Given the description of an element on the screen output the (x, y) to click on. 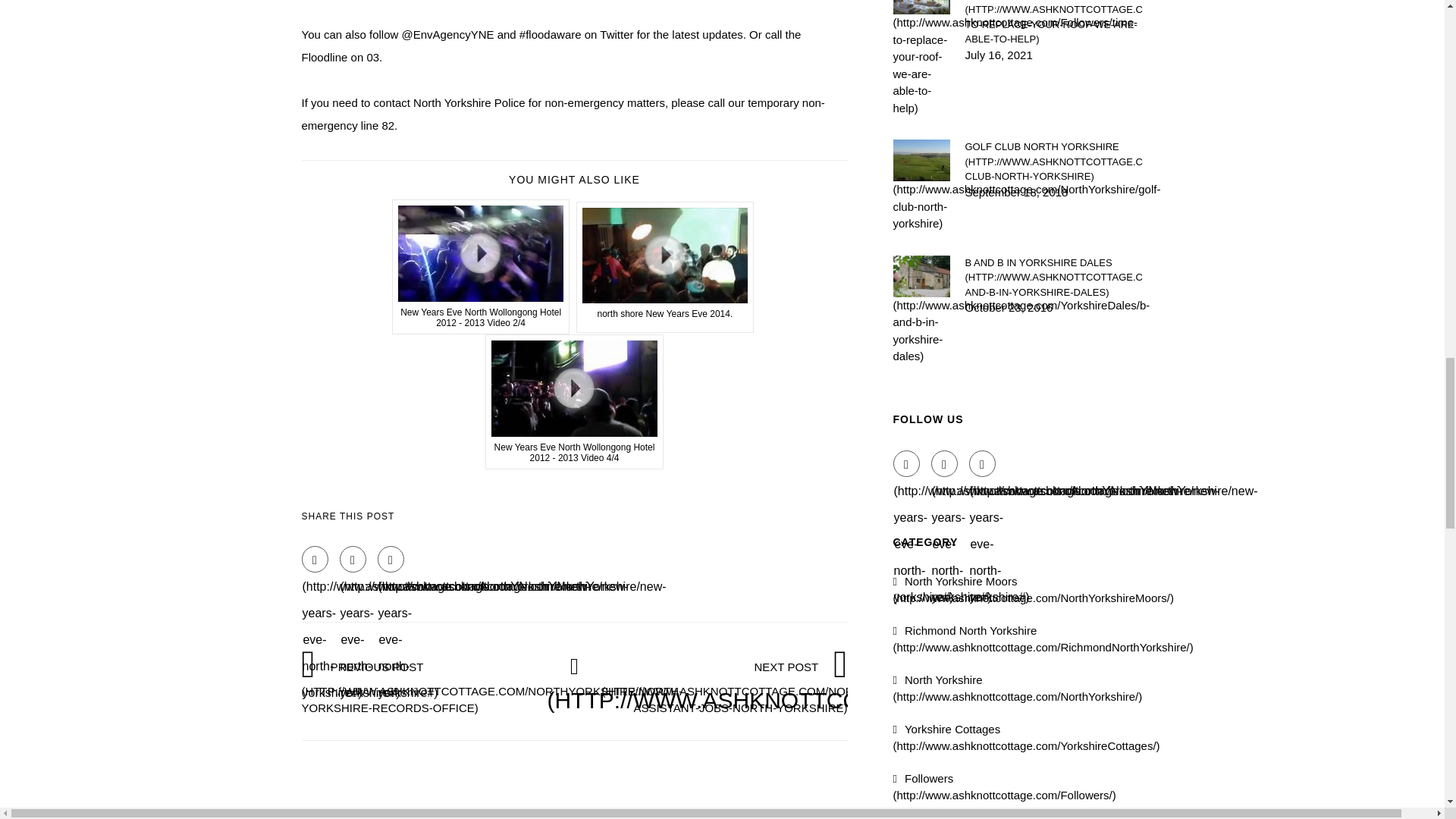
Google Plus (982, 463)
View all posts filed under Yorkshire Cottages (1026, 736)
View this video from YouTube (665, 266)
Facebook (315, 559)
View this video from YouTube (573, 401)
View all posts filed under Followers (1004, 787)
Twitter (352, 559)
View this video from YouTube (480, 266)
Twitter (944, 463)
View all posts filed under North Yorkshire (1017, 688)
NEXT POST (801, 686)
PREVIOUS POST (491, 686)
Facebook (906, 463)
View all posts filed under Richmond North Yorkshire (1043, 638)
Google Plus (390, 559)
